Given the description of an element on the screen output the (x, y) to click on. 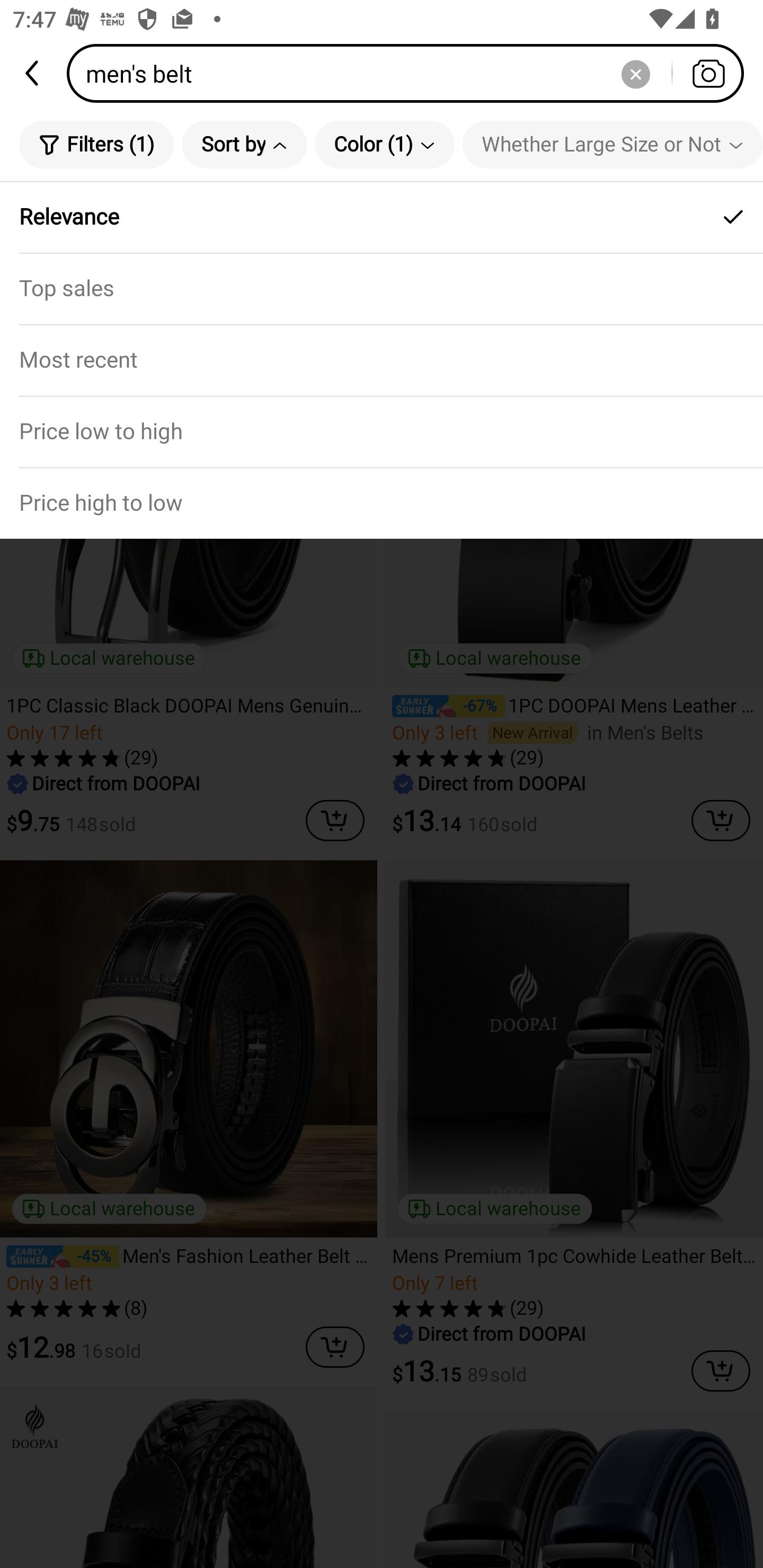
back (33, 72)
men's belt (411, 73)
Delete search history (635, 73)
Search by photo (708, 73)
Filters (1) (96, 143)
Sort by (243, 143)
Color (1) (384, 143)
Whether Large Size or Not (612, 143)
Relevance (381, 216)
Top sales (381, 288)
Most recent (381, 359)
Price low to high (381, 431)
Price high to low (381, 503)
